Given the description of an element on the screen output the (x, y) to click on. 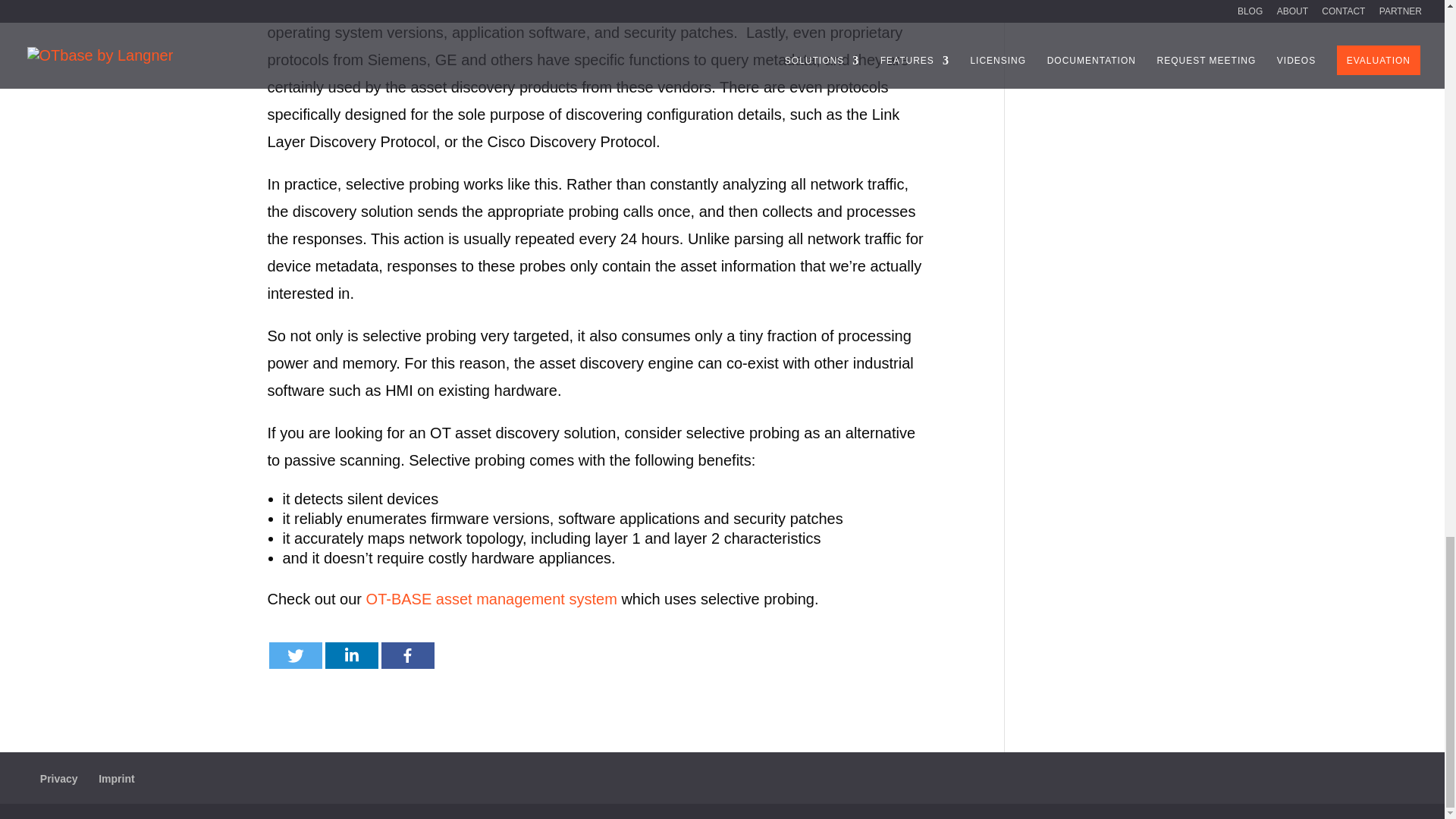
OT-BASE asset management system (491, 598)
Linkedin (350, 655)
Facebook (406, 655)
Imprint (116, 778)
Twitter (294, 655)
Privacy (59, 778)
